Given the description of an element on the screen output the (x, y) to click on. 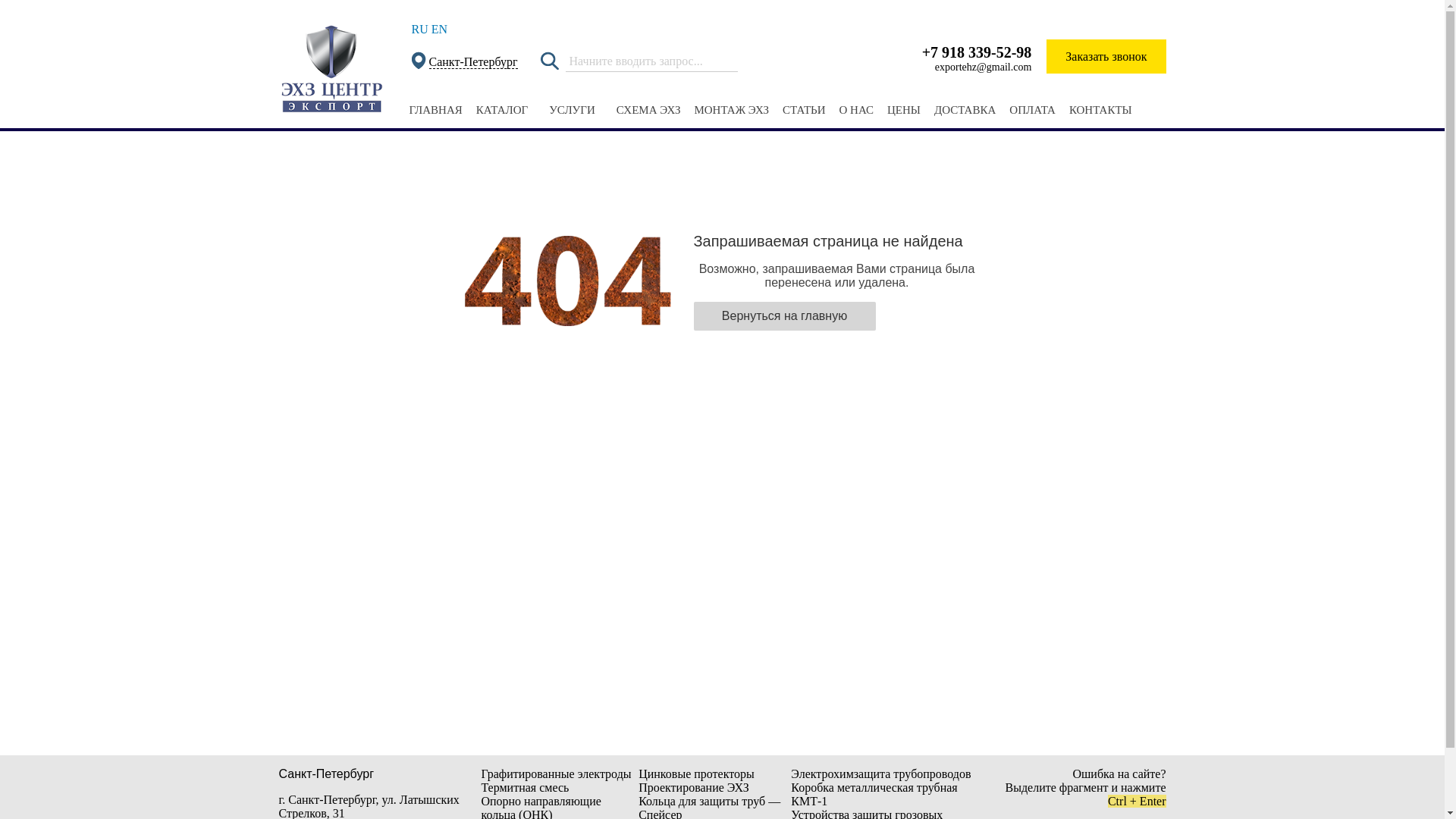
RU Element type: text (419, 28)
exportehz@gmail.com Element type: text (983, 66)
EN Element type: text (439, 28)
